Given the description of an element on the screen output the (x, y) to click on. 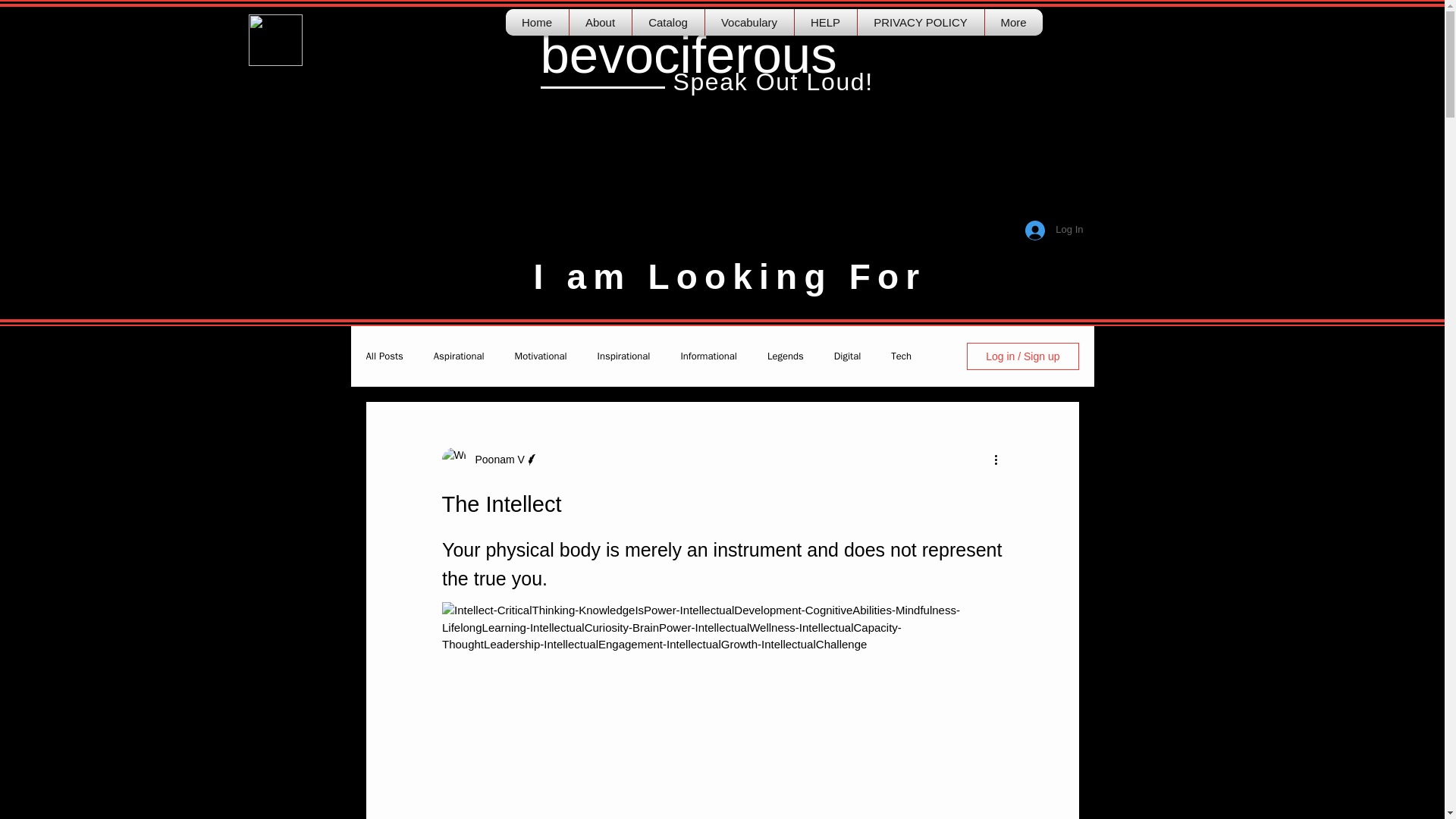
Motivational (541, 356)
Tech (901, 356)
Informational (707, 356)
Legends (785, 356)
Poonam V (494, 459)
Poonam V (489, 459)
All Posts (384, 356)
Log In (1053, 229)
Aspirational (458, 356)
Inspirational (623, 356)
